Given the description of an element on the screen output the (x, y) to click on. 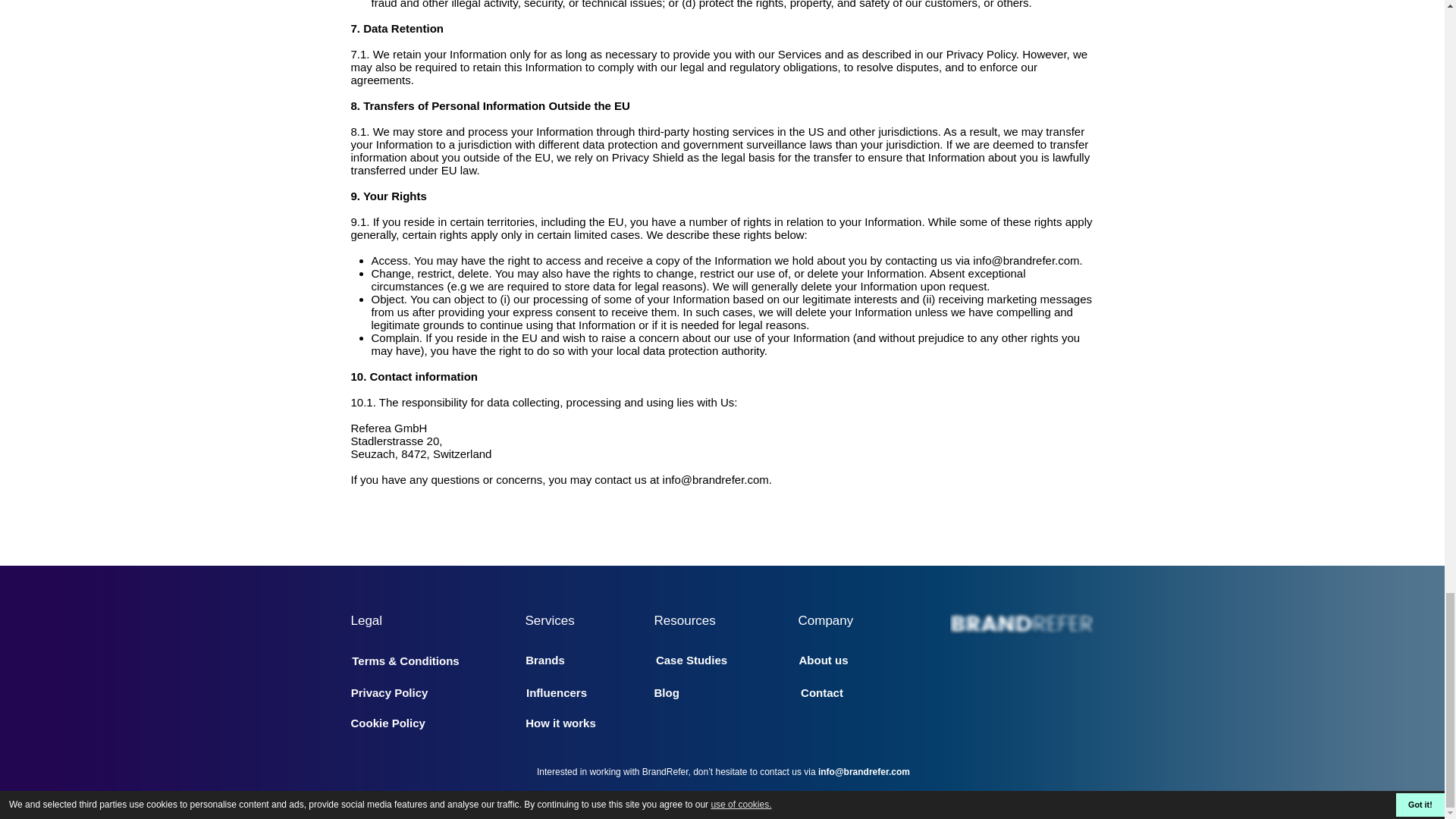
Cookie Policy (387, 722)
Brands (544, 659)
Contact (821, 692)
How it works (559, 722)
Case Studies (691, 659)
Privacy Policy (389, 692)
About us (822, 659)
Influencers (556, 692)
